Given the description of an element on the screen output the (x, y) to click on. 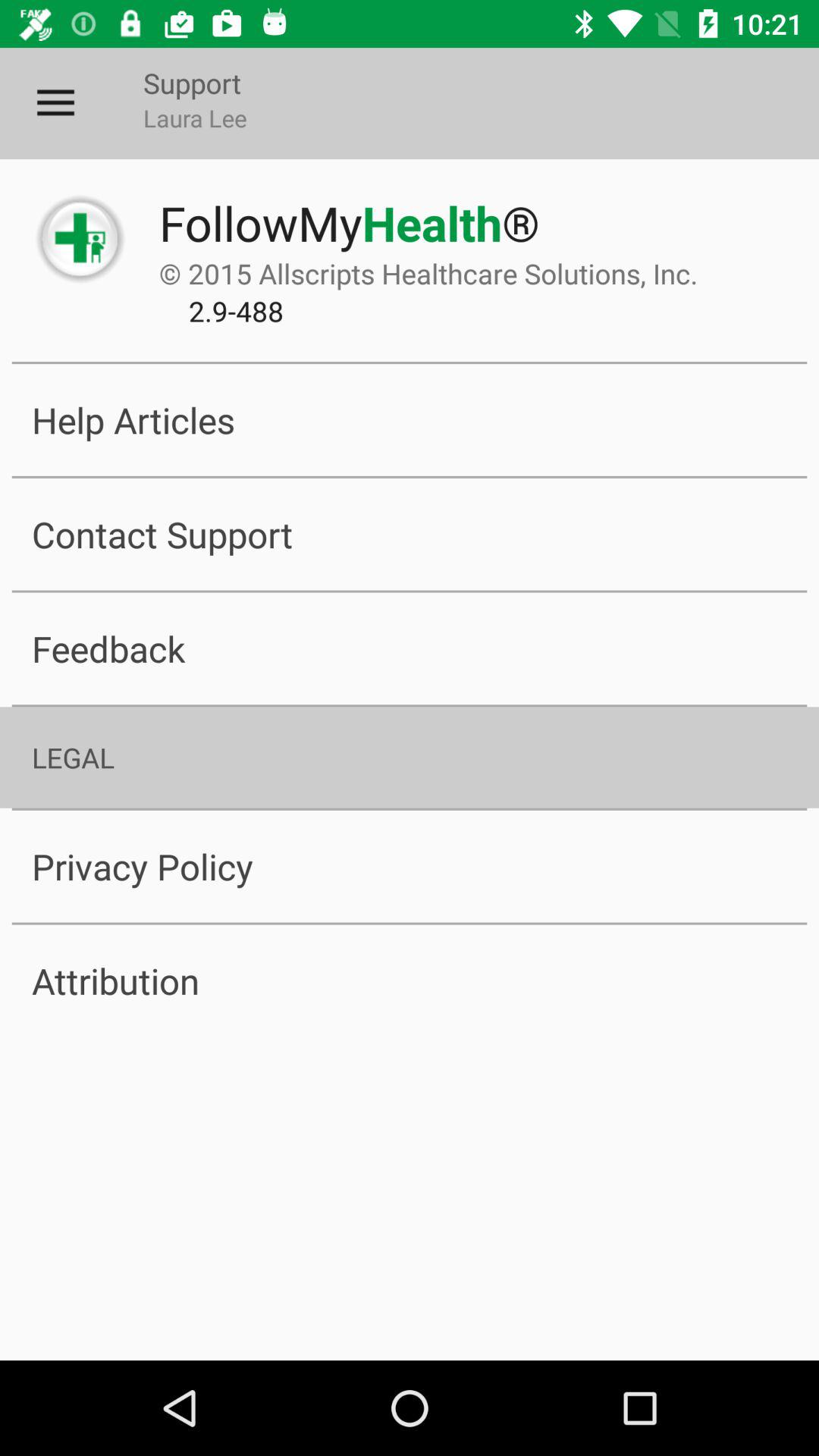
tap the item above the feedback item (409, 534)
